Given the description of an element on the screen output the (x, y) to click on. 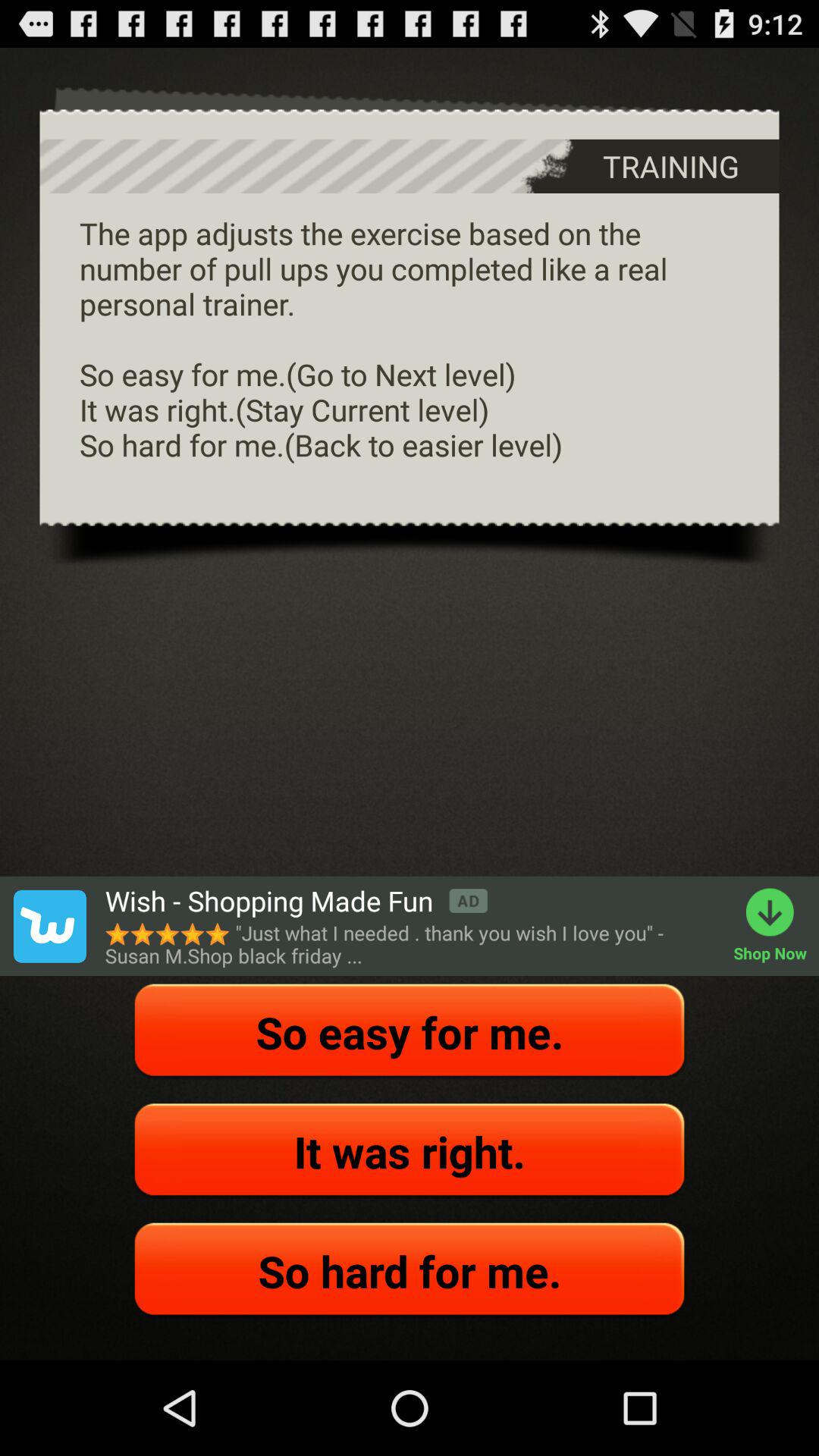
turn on shop now item (776, 926)
